Given the description of an element on the screen output the (x, y) to click on. 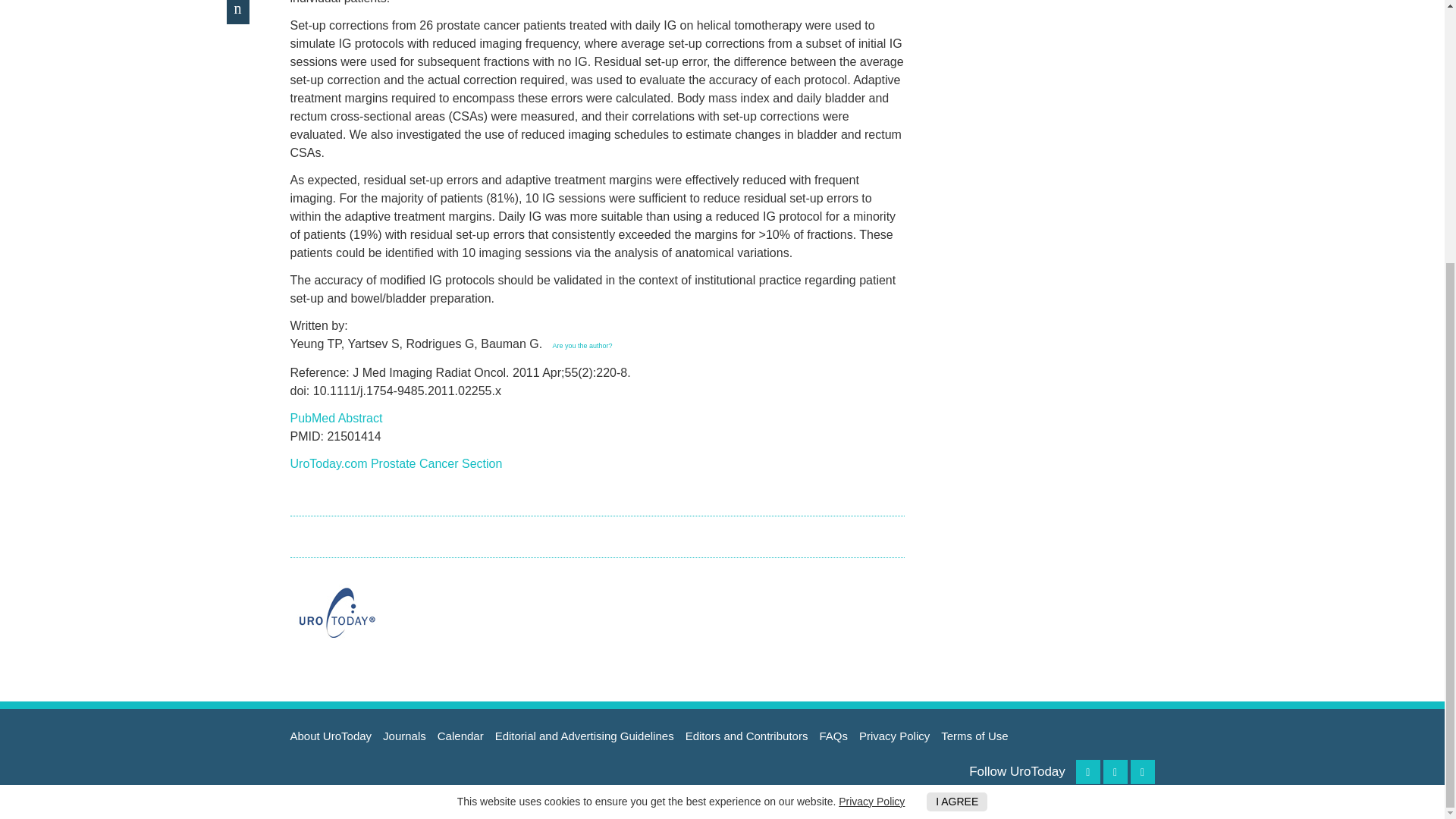
I AGREE (956, 422)
Privacy Policy (871, 422)
